Given the description of an element on the screen output the (x, y) to click on. 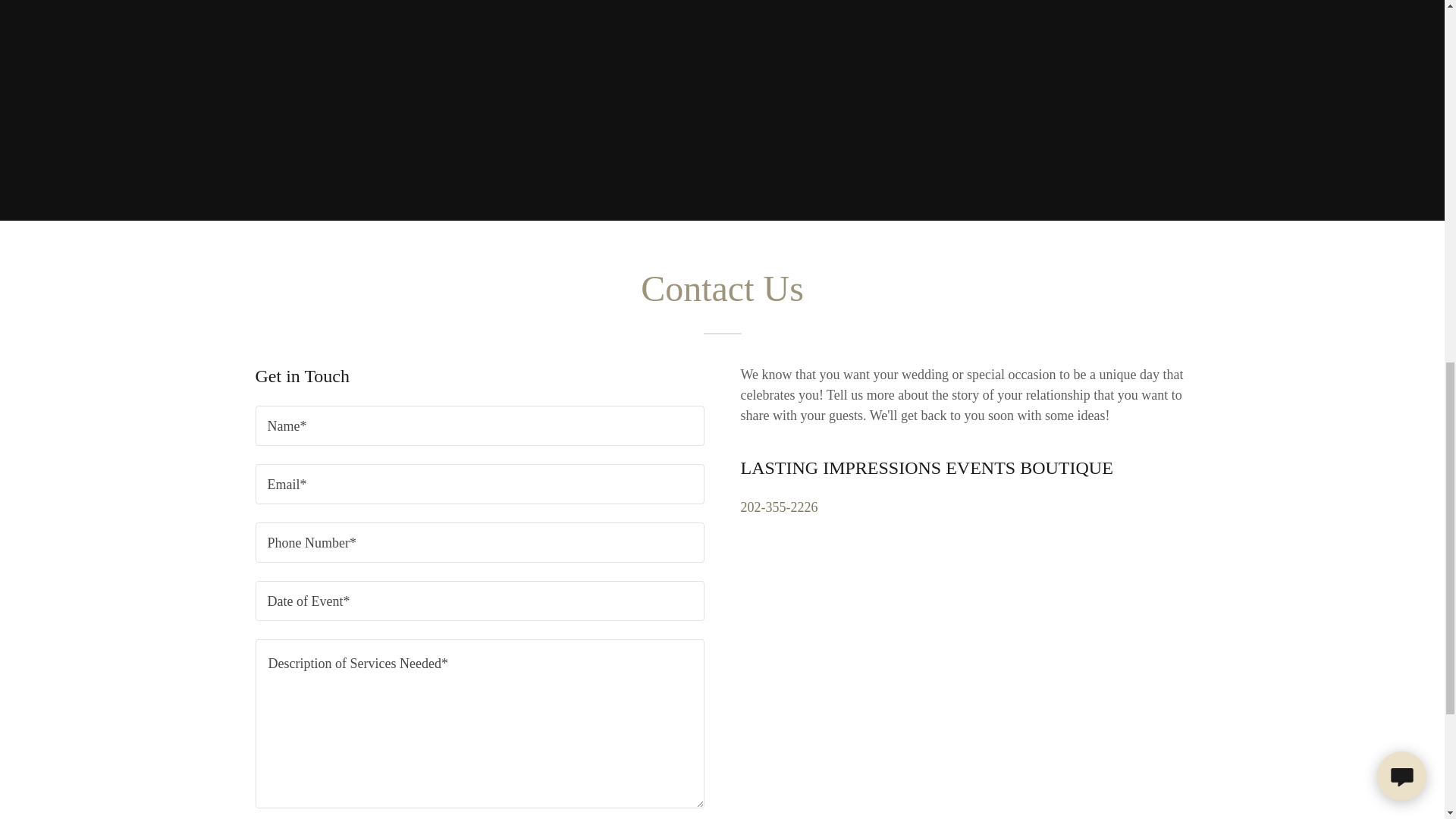
202-355-2226 (777, 507)
